Given the description of an element on the screen output the (x, y) to click on. 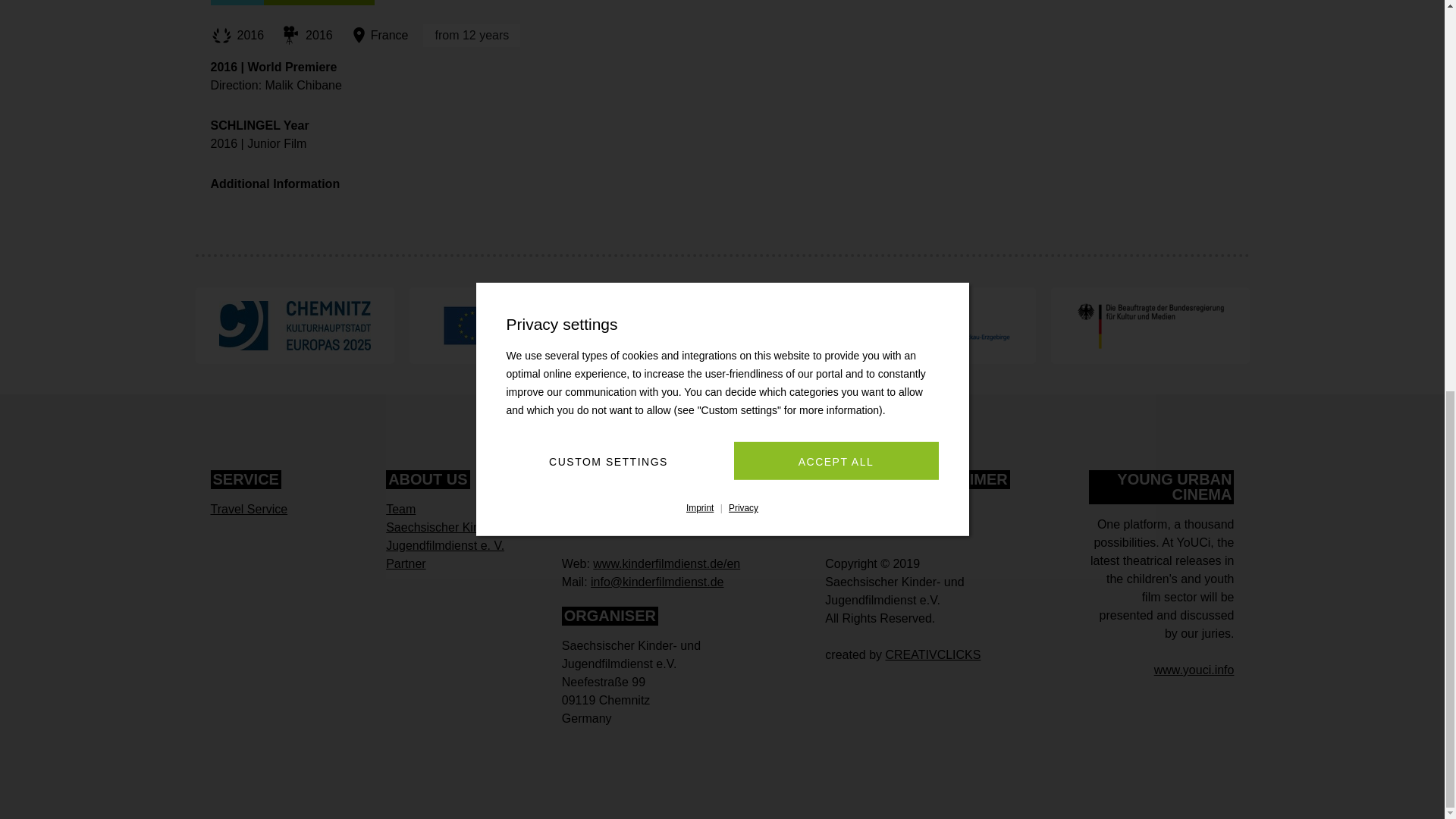
Travel Service (249, 508)
